Given the description of an element on the screen output the (x, y) to click on. 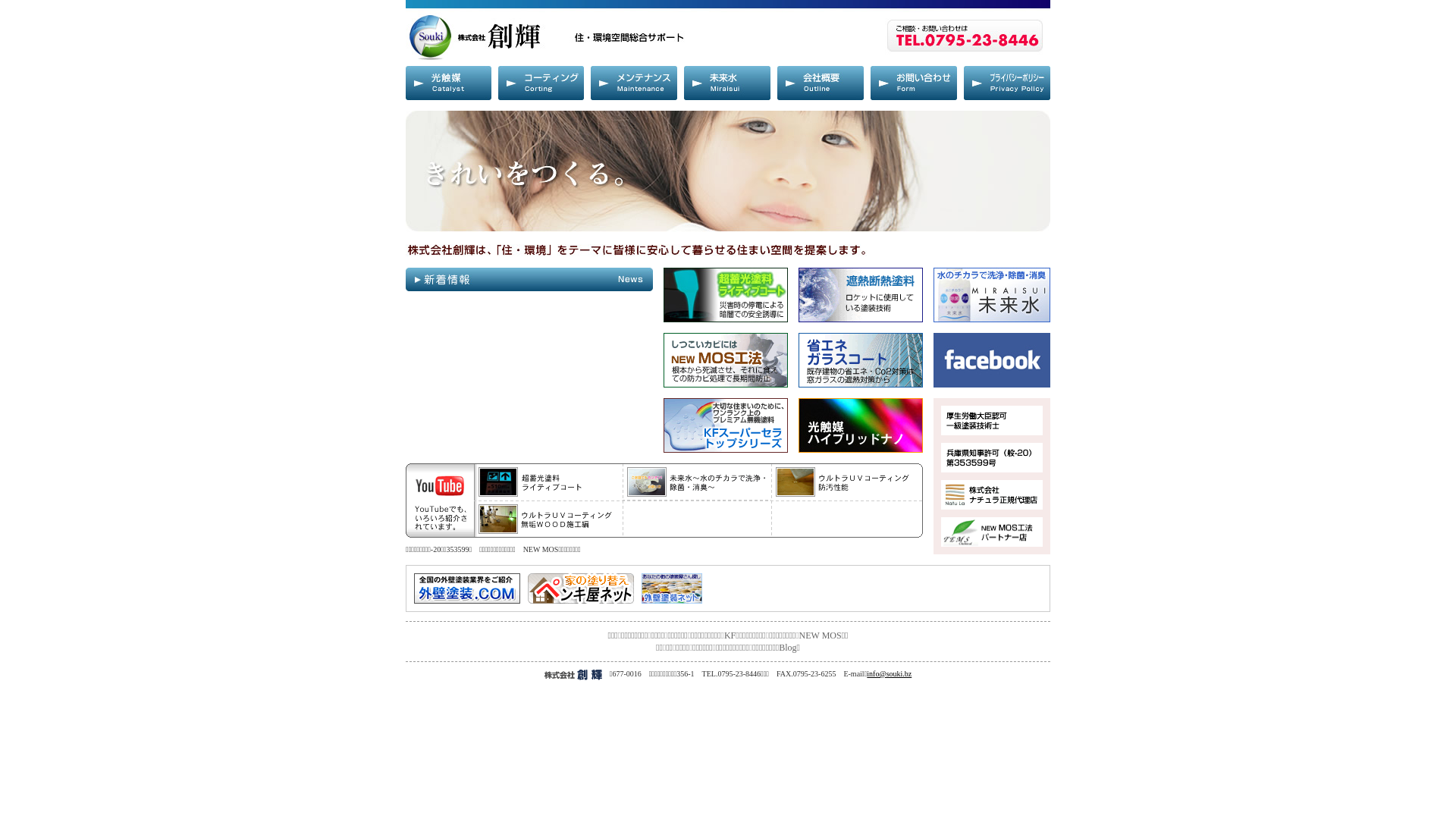
info@souki.bz Element type: text (888, 673)
